Given the description of an element on the screen output the (x, y) to click on. 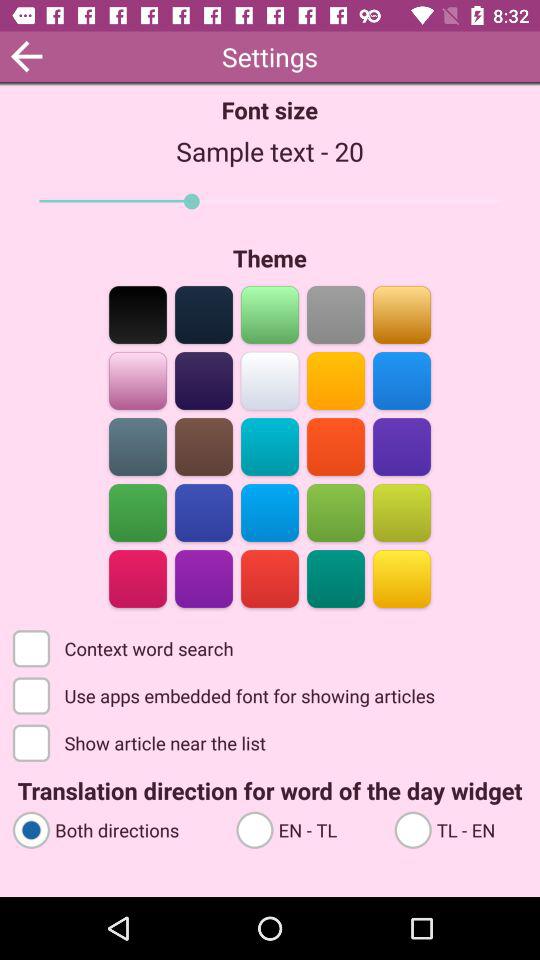
select theme color grey (335, 313)
